Given the description of an element on the screen output the (x, y) to click on. 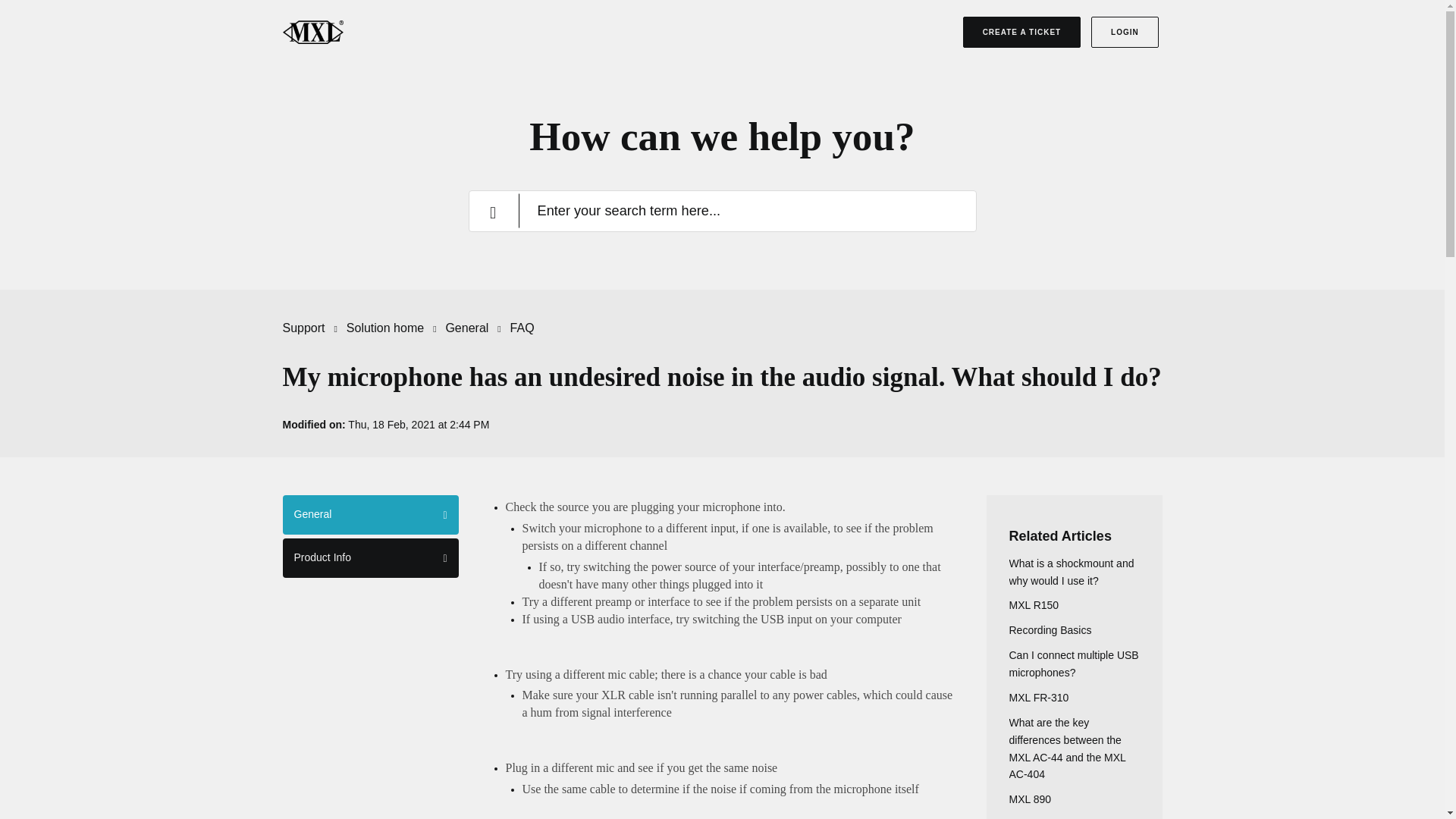
MXL 890 (1030, 799)
What is a shockmount and why would I use it? (1071, 572)
Support (312, 327)
General (370, 514)
FAQ (522, 327)
Product Info (370, 558)
Can I connect multiple USB microphones? (1073, 663)
General (466, 327)
MXL R150 (1033, 604)
CREATE A TICKET (1021, 32)
MXL FR-310 (1038, 697)
MXL TB1 (1030, 818)
Solution home (384, 327)
LOGIN (1124, 32)
Support (303, 327)
